Given the description of an element on the screen output the (x, y) to click on. 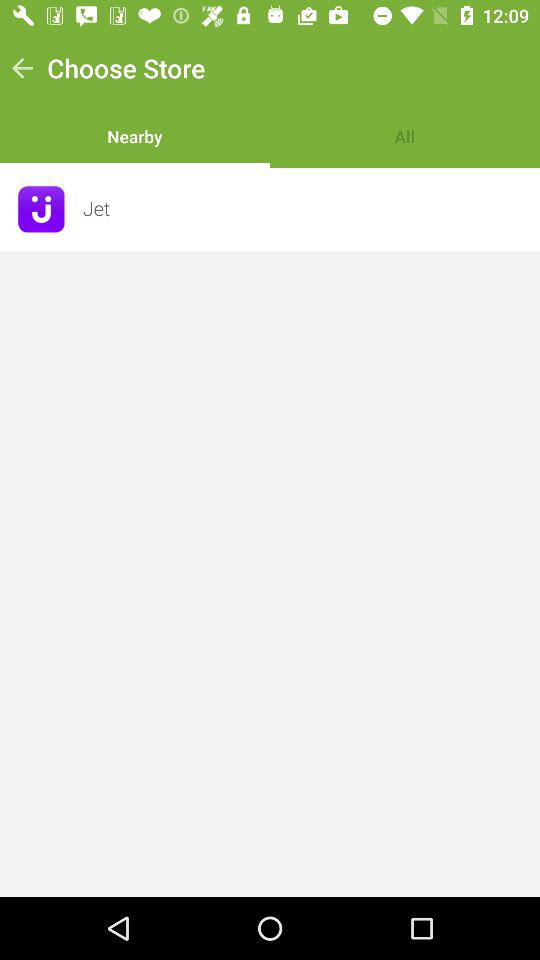
open the choose store (126, 67)
